Given the description of an element on the screen output the (x, y) to click on. 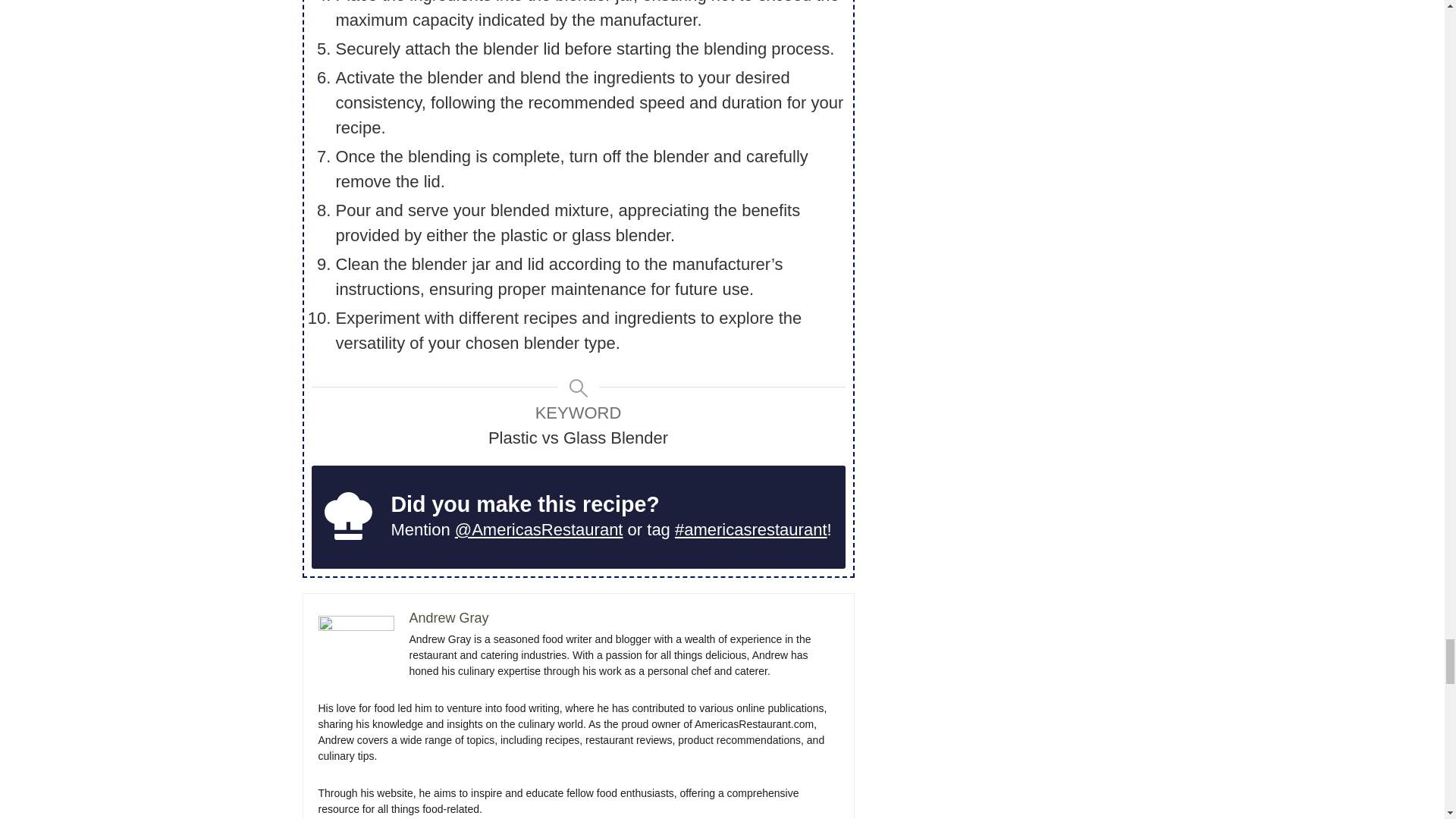
Andrew Gray (449, 617)
